Given the description of an element on the screen output the (x, y) to click on. 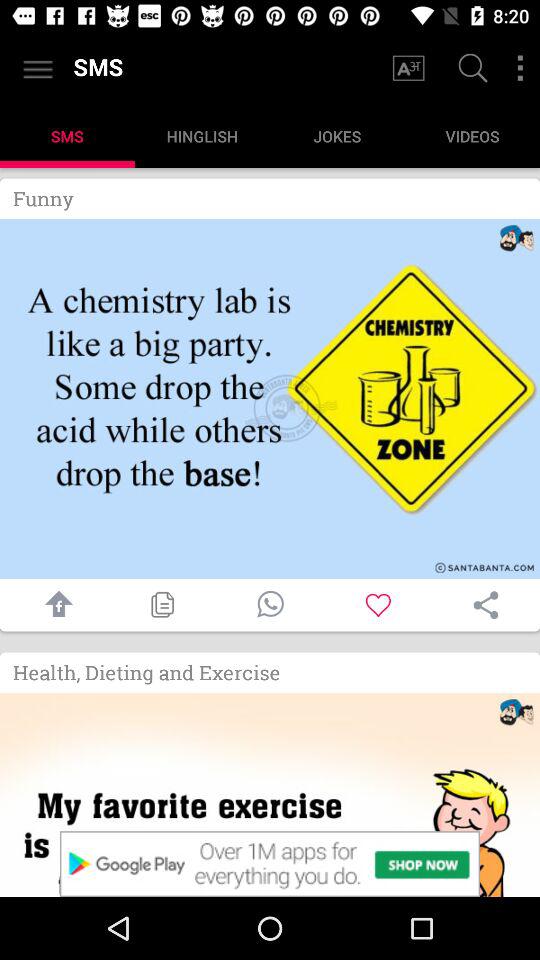
search sms (470, 70)
